Given the description of an element on the screen output the (x, y) to click on. 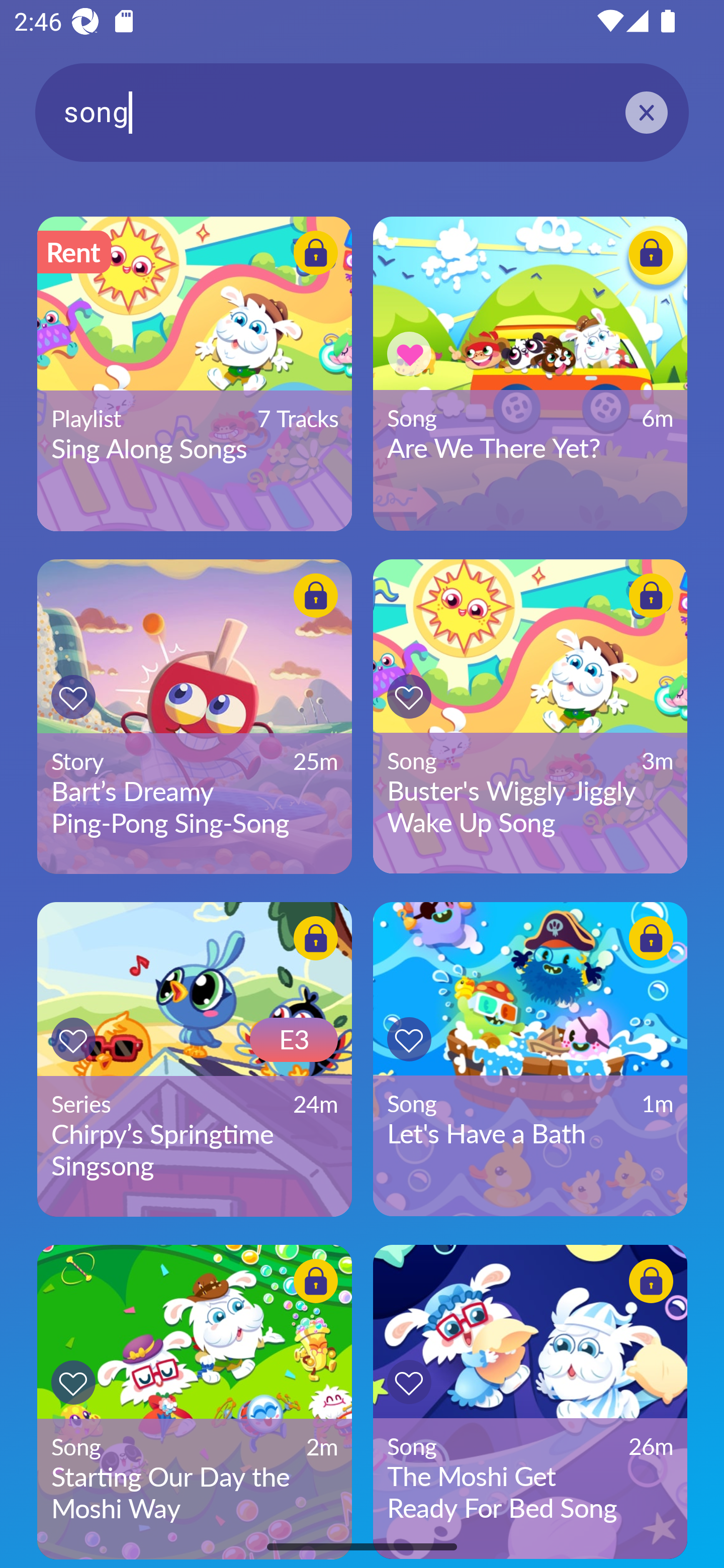
song (361, 111)
Button (315, 252)
Button (650, 252)
Button (409, 354)
Button (315, 595)
Button (650, 595)
Button (409, 695)
Button (73, 696)
Button (315, 937)
Button (650, 937)
Button (409, 1039)
Button (73, 1039)
Button (315, 1280)
Button (650, 1280)
Button (409, 1381)
Button (73, 1382)
